Given the description of an element on the screen output the (x, y) to click on. 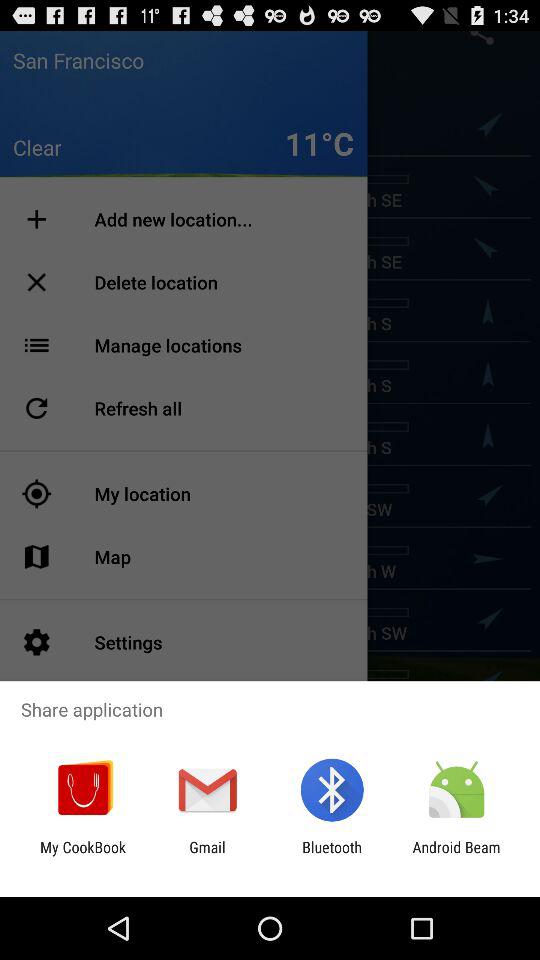
select the android beam app (456, 856)
